Given the description of an element on the screen output the (x, y) to click on. 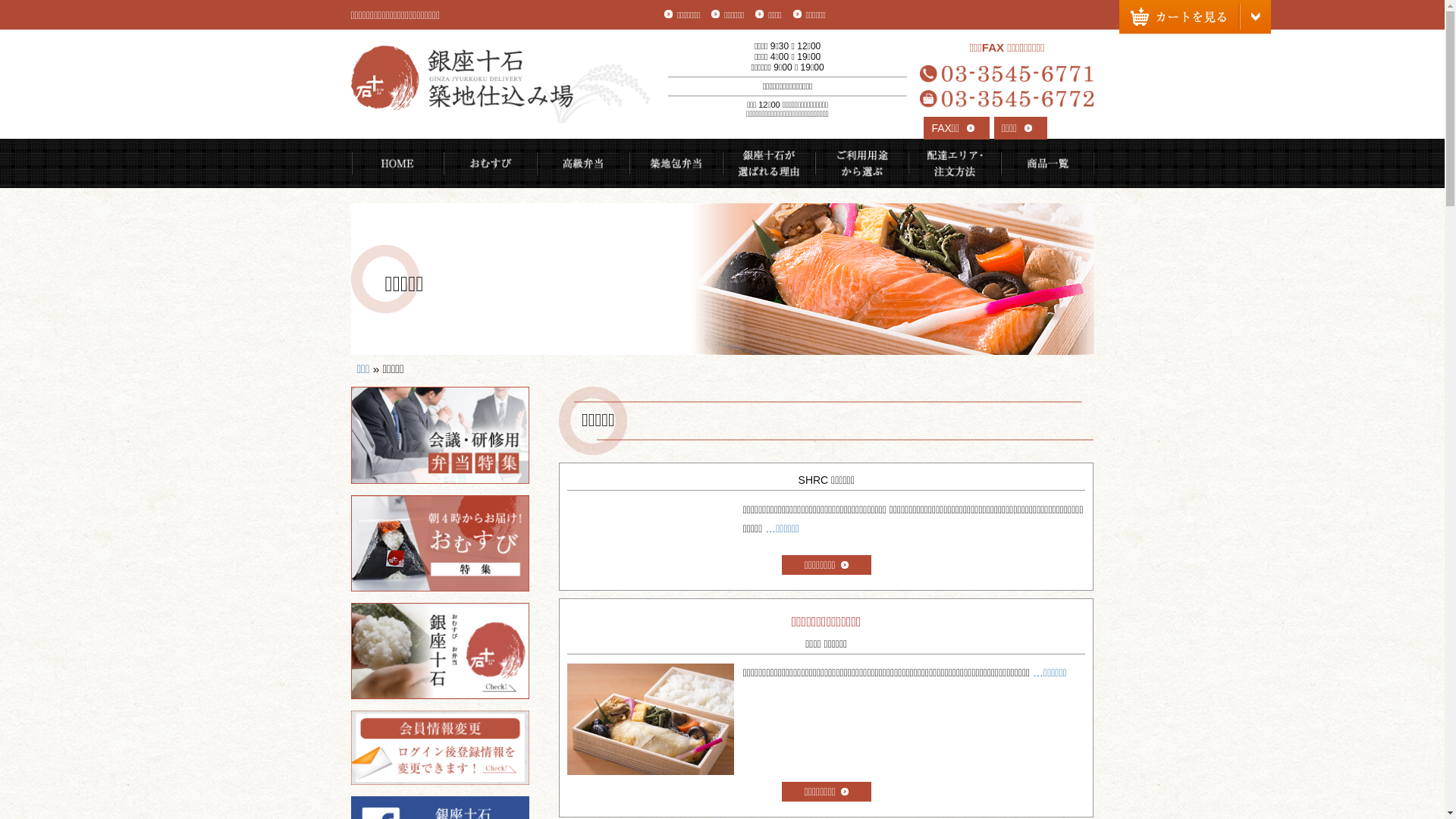
HOME Element type: text (396, 163)
